Given the description of an element on the screen output the (x, y) to click on. 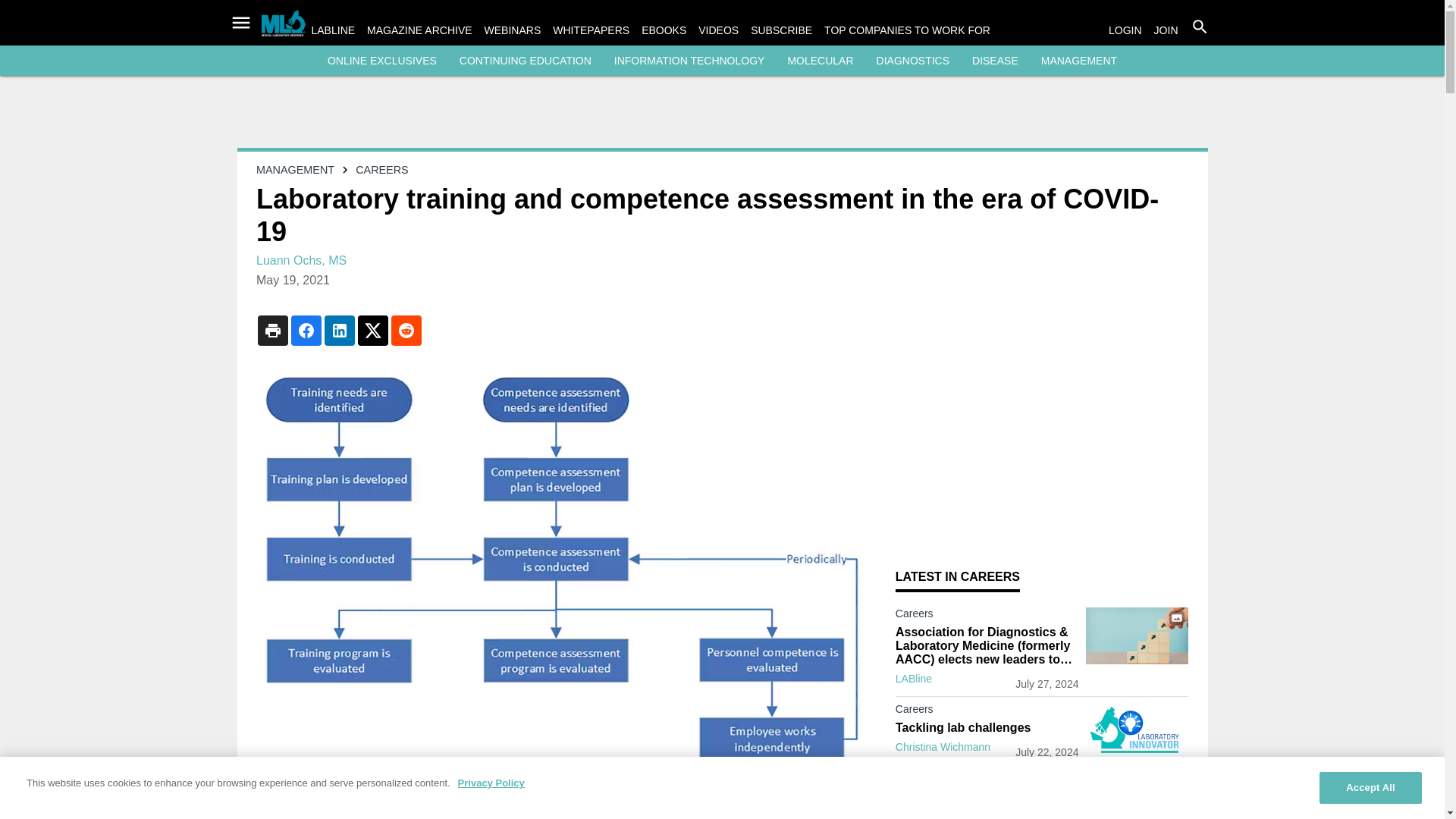
TOP COMPANIES TO WORK FOR (907, 30)
DISEASE (994, 60)
MANAGEMENT (1078, 60)
SUBSCRIBE (781, 30)
JOIN (1165, 30)
WEBINARS (512, 30)
INFORMATION TECHNOLOGY (689, 60)
VIDEOS (718, 30)
WHITEPAPERS (590, 30)
LABLINE (333, 30)
EBOOKS (663, 30)
CONTINUING EDUCATION (525, 60)
DIAGNOSTICS (912, 60)
MOLECULAR (820, 60)
